Given the description of an element on the screen output the (x, y) to click on. 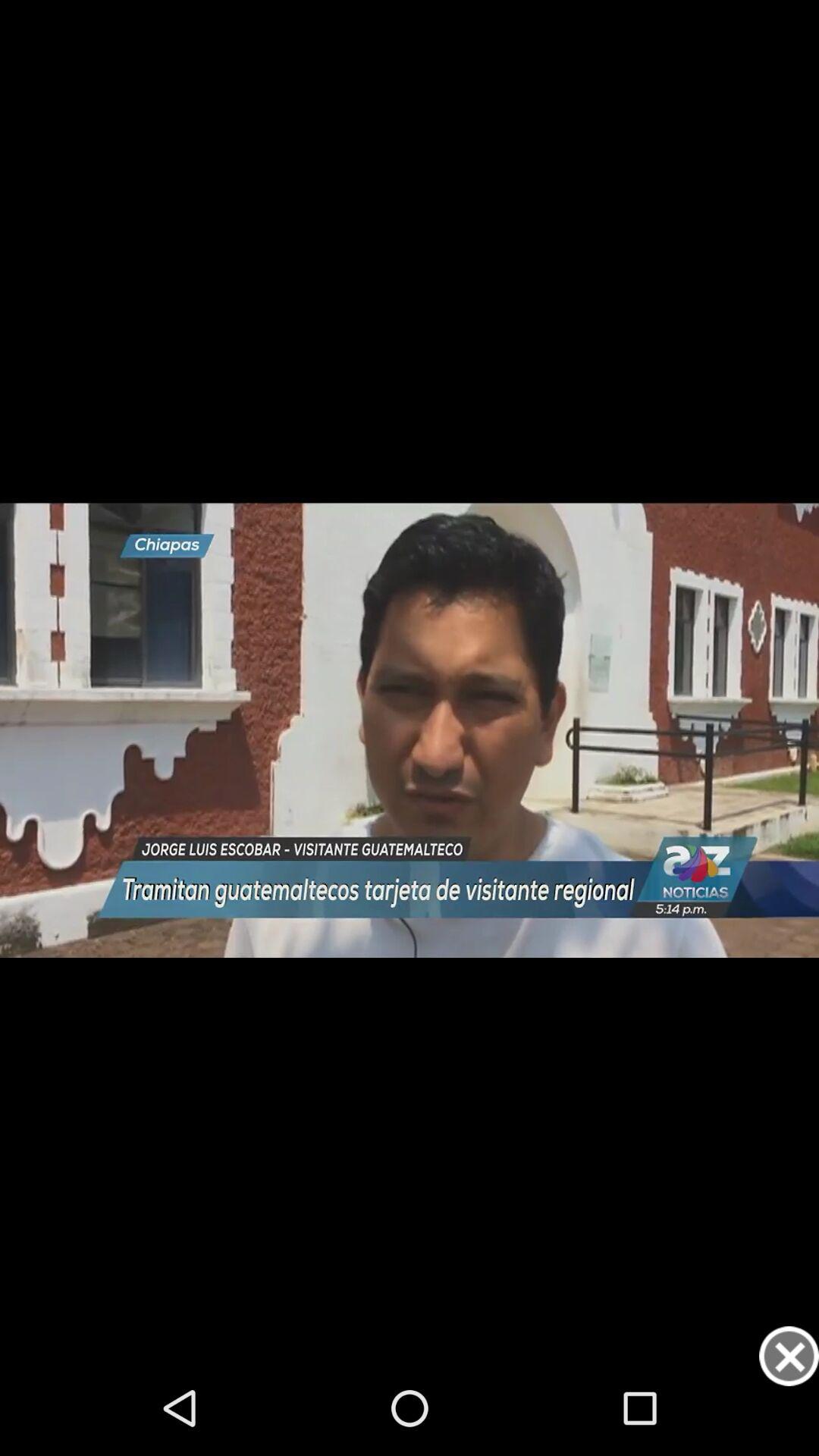
exits video (789, 1356)
